Given the description of an element on the screen output the (x, y) to click on. 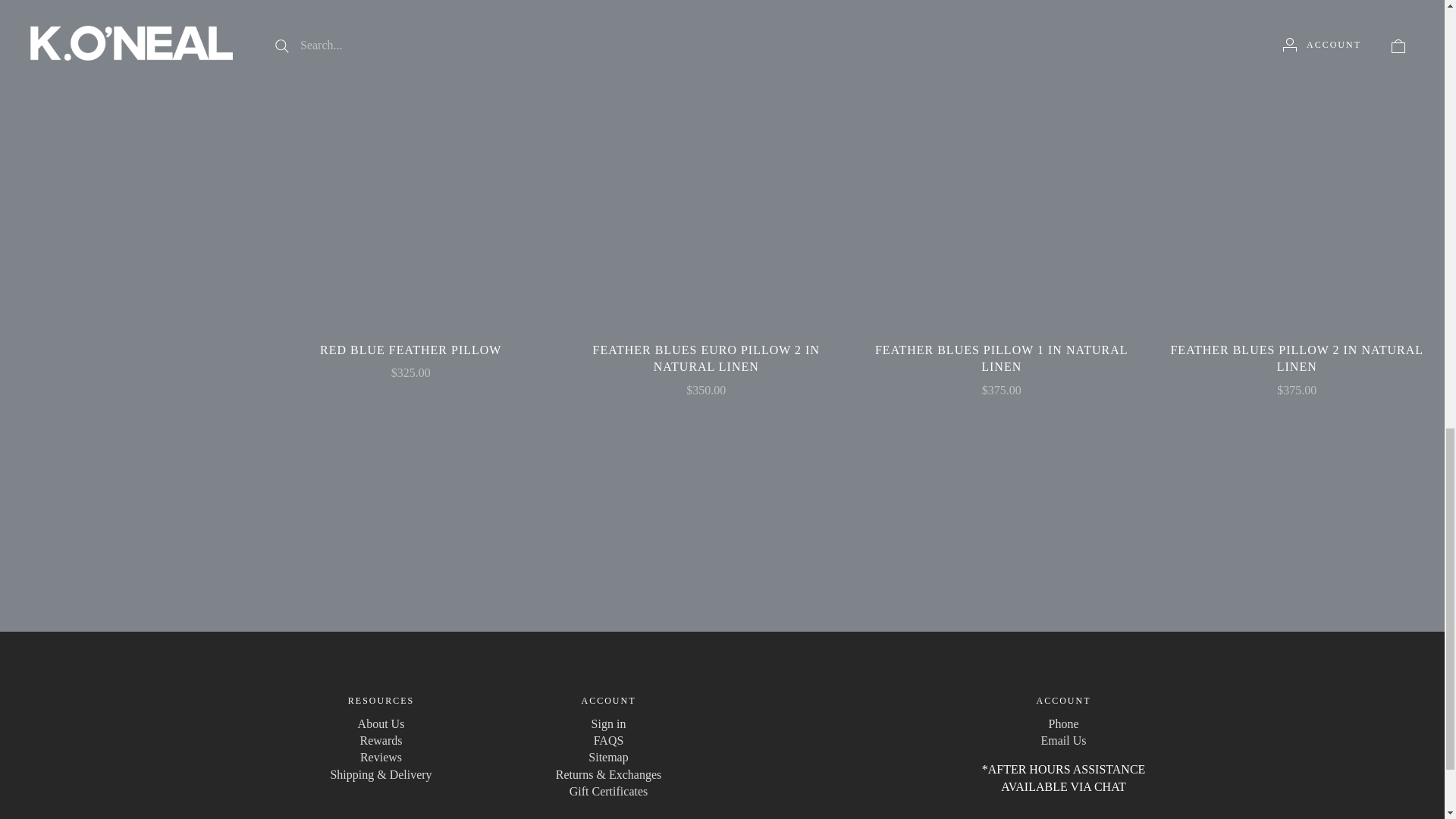
Design Legacy by Kelly O'Neal Red Blue Feather Pillow  (410, 162)
